Given the description of an element on the screen output the (x, y) to click on. 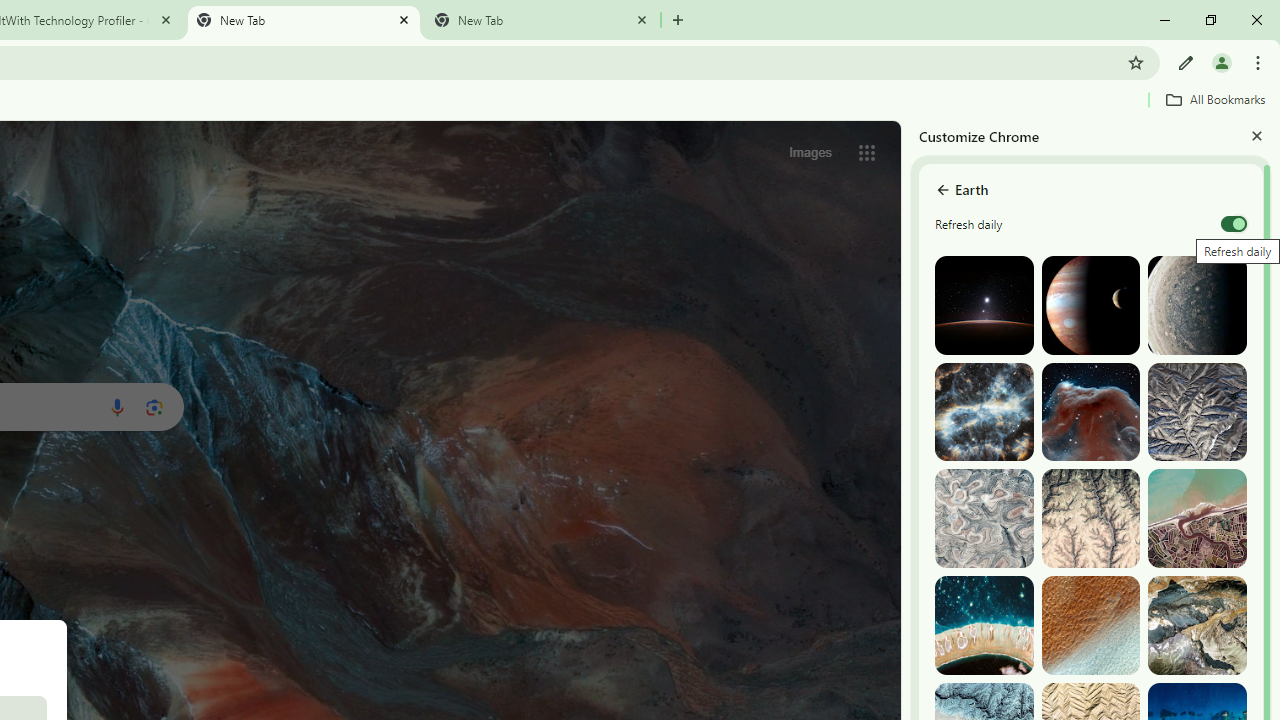
The Tuamotu and Gambier Islands, French Polynesia (984, 625)
Customize Chrome (1185, 62)
